Given the description of an element on the screen output the (x, y) to click on. 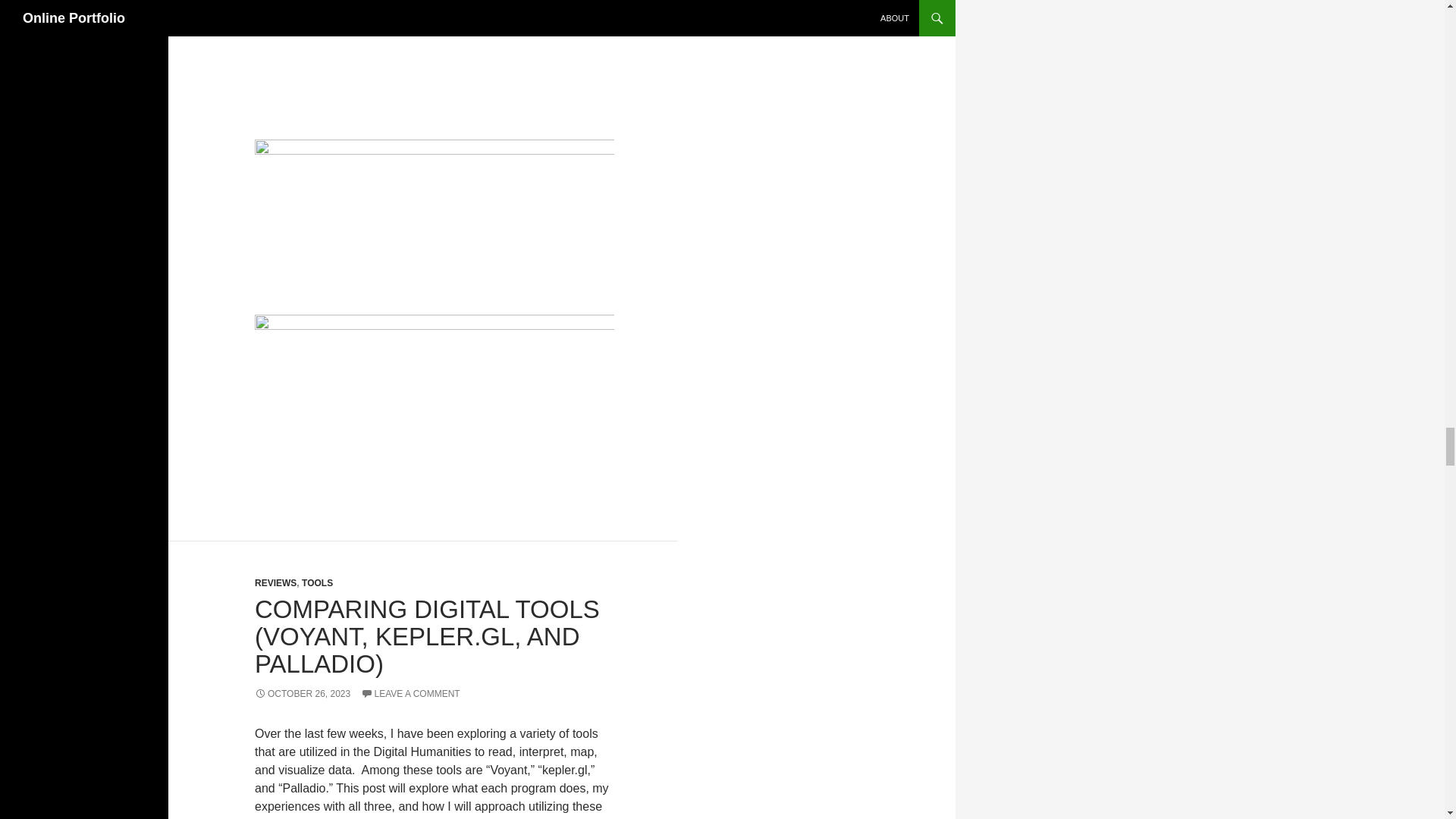
TOOLS (317, 583)
OCTOBER 26, 2023 (302, 693)
LEAVE A COMMENT (410, 693)
REVIEWS (275, 583)
